Given the description of an element on the screen output the (x, y) to click on. 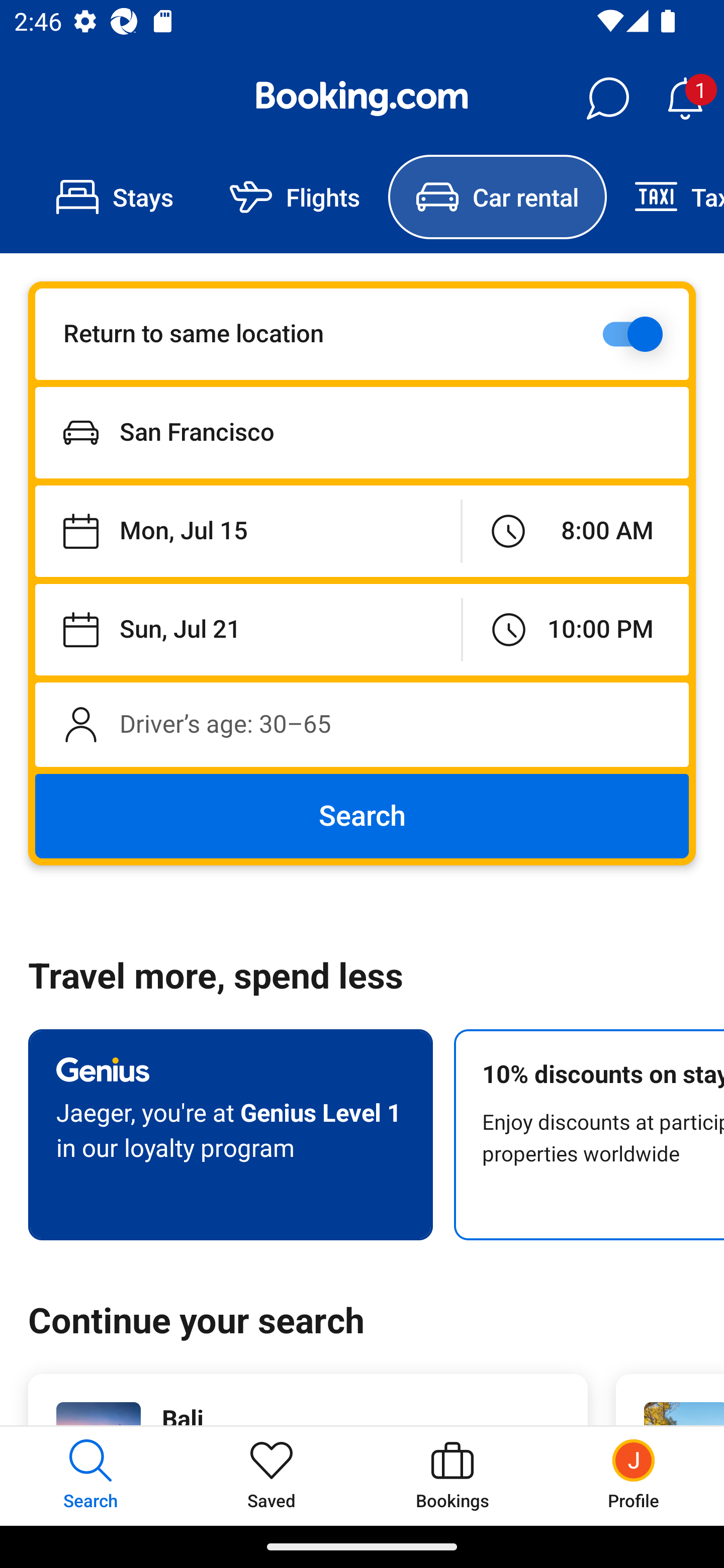
Messages (607, 98)
Notifications (685, 98)
Stays (114, 197)
Flights (294, 197)
Car rental (497, 197)
Taxi (665, 197)
Pick-up location: Text(name=San Francisco) (361, 432)
Pick-up date: 2024-07-15 (247, 531)
Pick-up time: 08:00:00.000 (575, 531)
Drop-off date: 2024-07-21 (248, 629)
Drop-off time: 22:00:00.000 (575, 629)
Enter the driver's age (361, 724)
Search (361, 815)
Saved (271, 1475)
Bookings (452, 1475)
Profile (633, 1475)
